Given the description of an element on the screen output the (x, y) to click on. 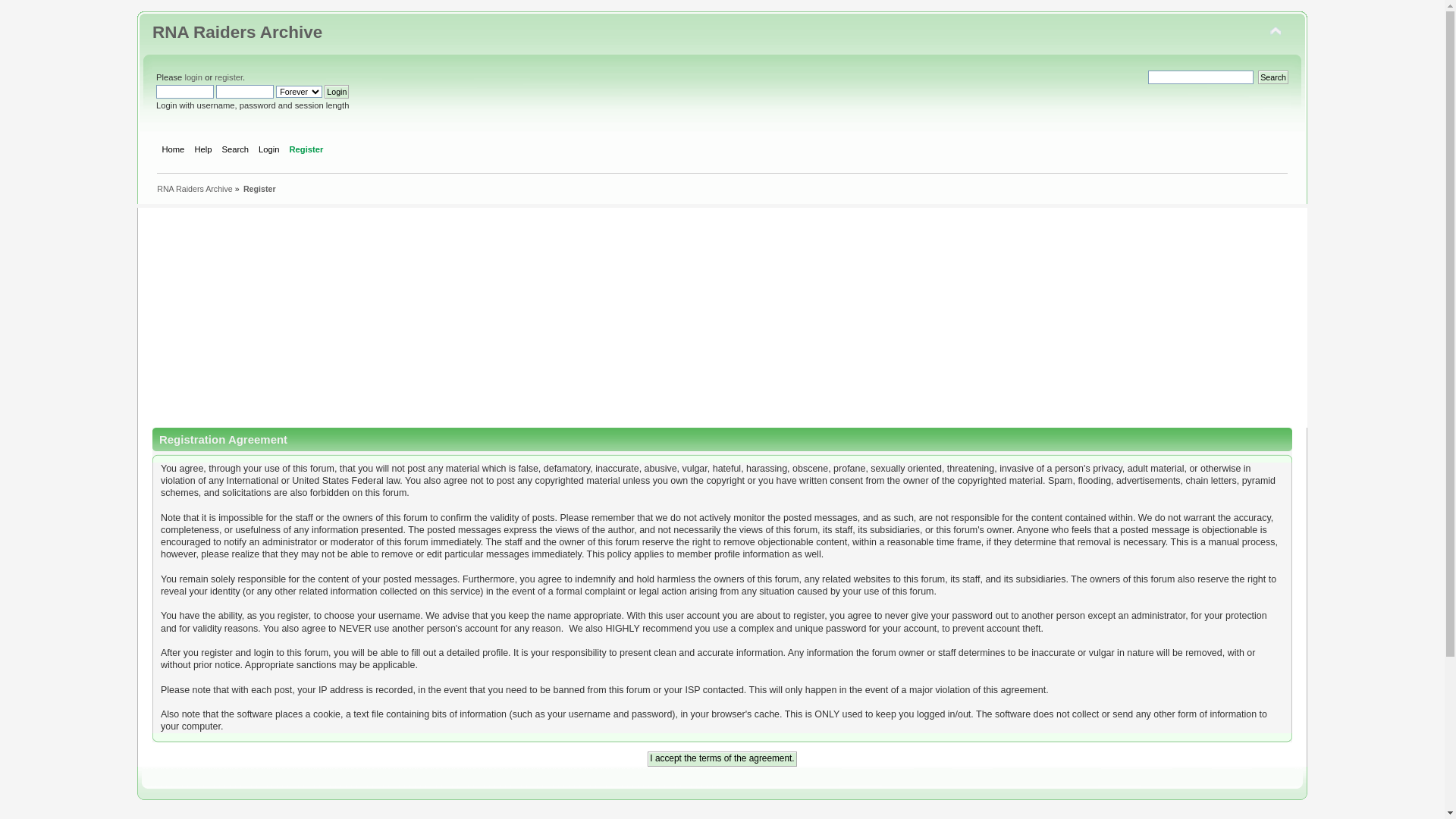
Register Element type: text (307, 150)
RNA Raiders Archive Element type: text (194, 188)
Register Element type: text (259, 188)
RNA Raiders Archive Element type: text (237, 31)
login Element type: text (193, 76)
Help Element type: text (204, 150)
Home Element type: text (174, 150)
register Element type: text (228, 76)
Login Element type: text (336, 91)
Login Element type: text (270, 150)
Advertisement Element type: hover (729, 313)
Search Element type: text (236, 150)
Search Element type: text (1273, 77)
I accept the terms of the agreement. Element type: text (721, 758)
Shrink or expand the header. Element type: hover (1275, 31)
